Given the description of an element on the screen output the (x, y) to click on. 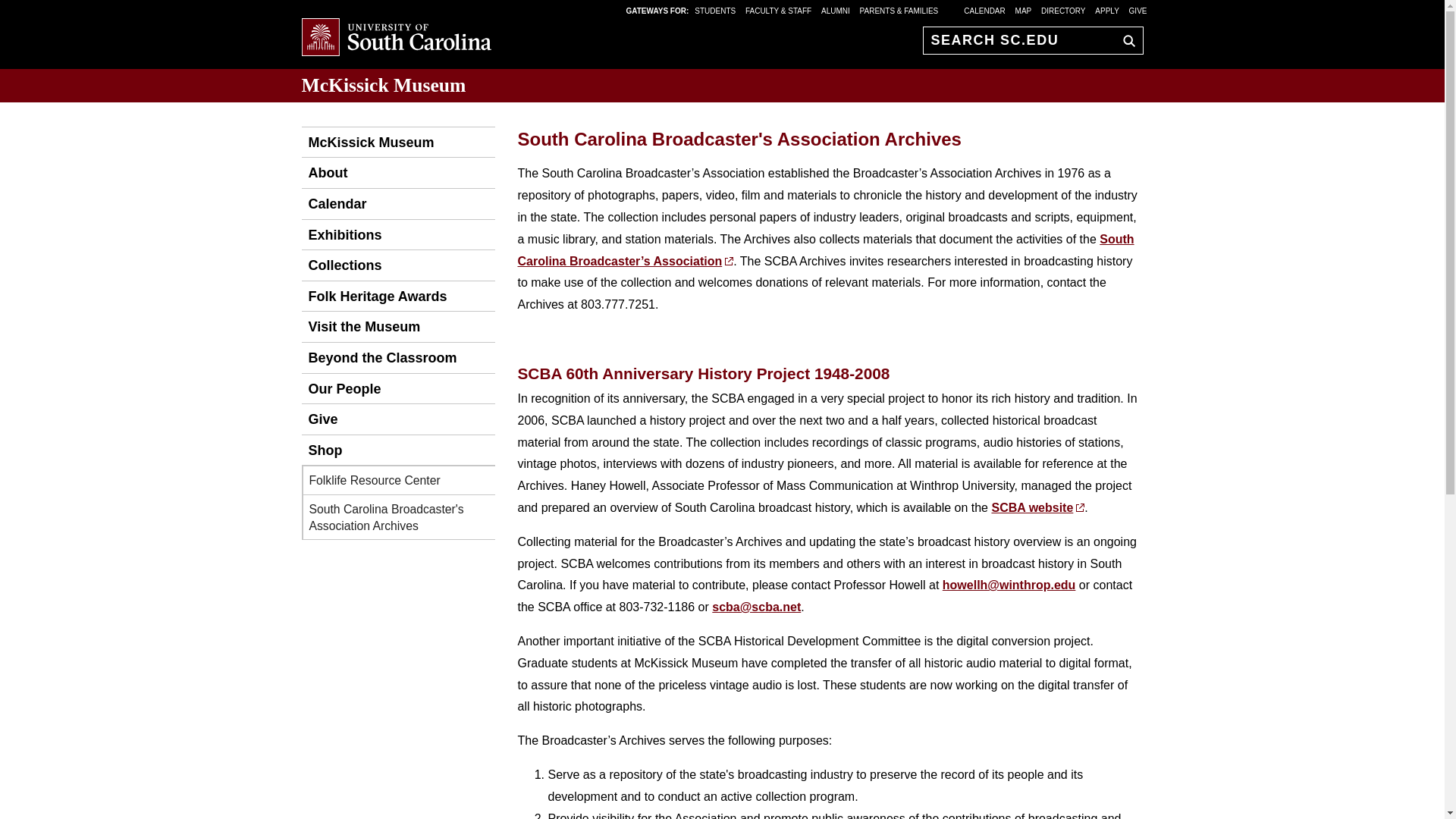
DIRECTORY (1063, 9)
Our Faculty and Staff (341, 388)
APPLY (1106, 9)
GO (1125, 40)
CALENDAR (983, 9)
MAP (1023, 9)
McKissick Museum (367, 142)
McKissick Museum (383, 85)
GIVE (1138, 9)
University of South Carolina Home (396, 38)
GO (1125, 40)
STUDENTS (716, 9)
ALUMNI (835, 9)
sc.edu Search (1125, 40)
